Given the description of an element on the screen output the (x, y) to click on. 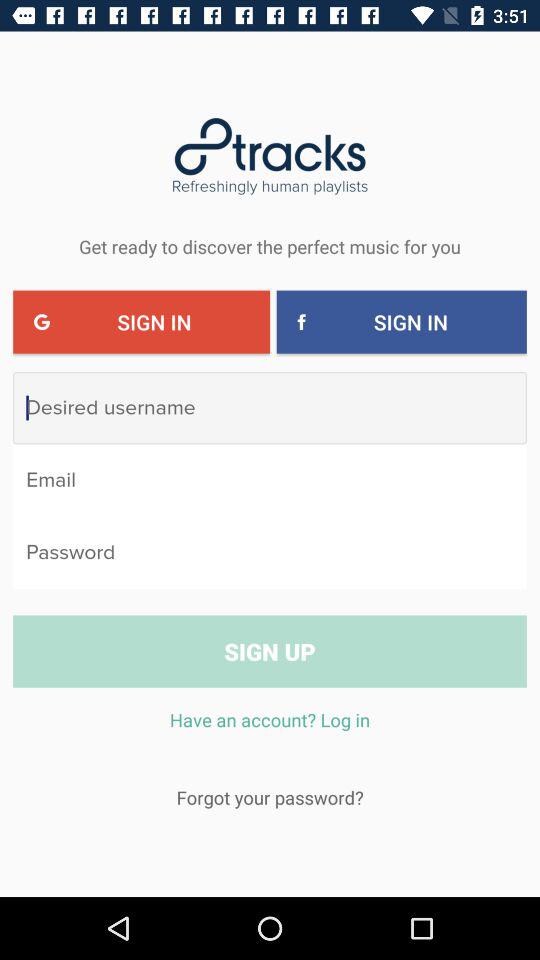
enter desired username (269, 408)
